Given the description of an element on the screen output the (x, y) to click on. 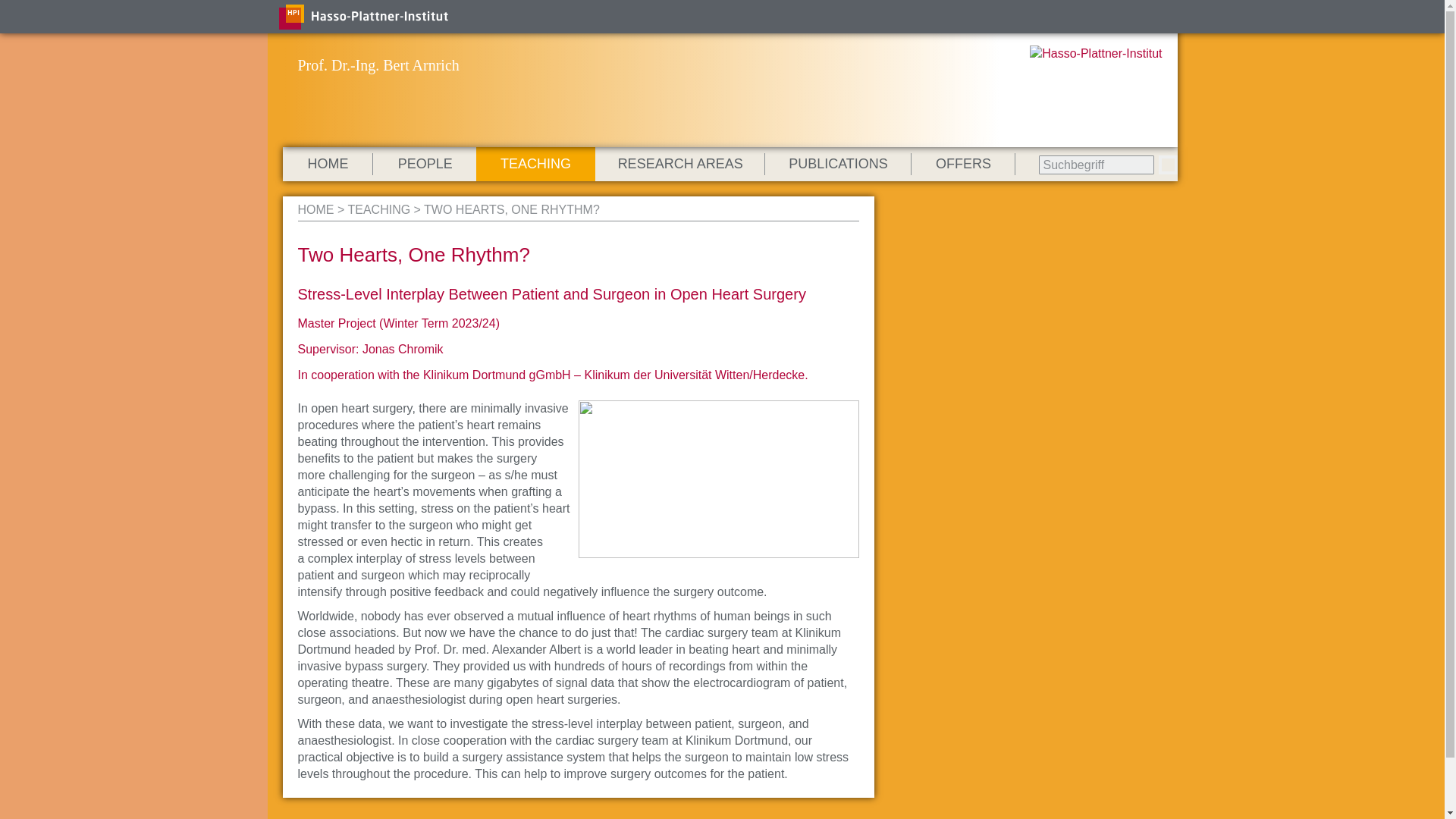
Arnrich (315, 209)
Jonas Chromik (403, 349)
HOME (315, 209)
HOME (327, 163)
TEACHING (378, 209)
SUCHEN (1167, 164)
RESEARCH AREAS (680, 163)
OFFERS (963, 163)
